Given the description of an element on the screen output the (x, y) to click on. 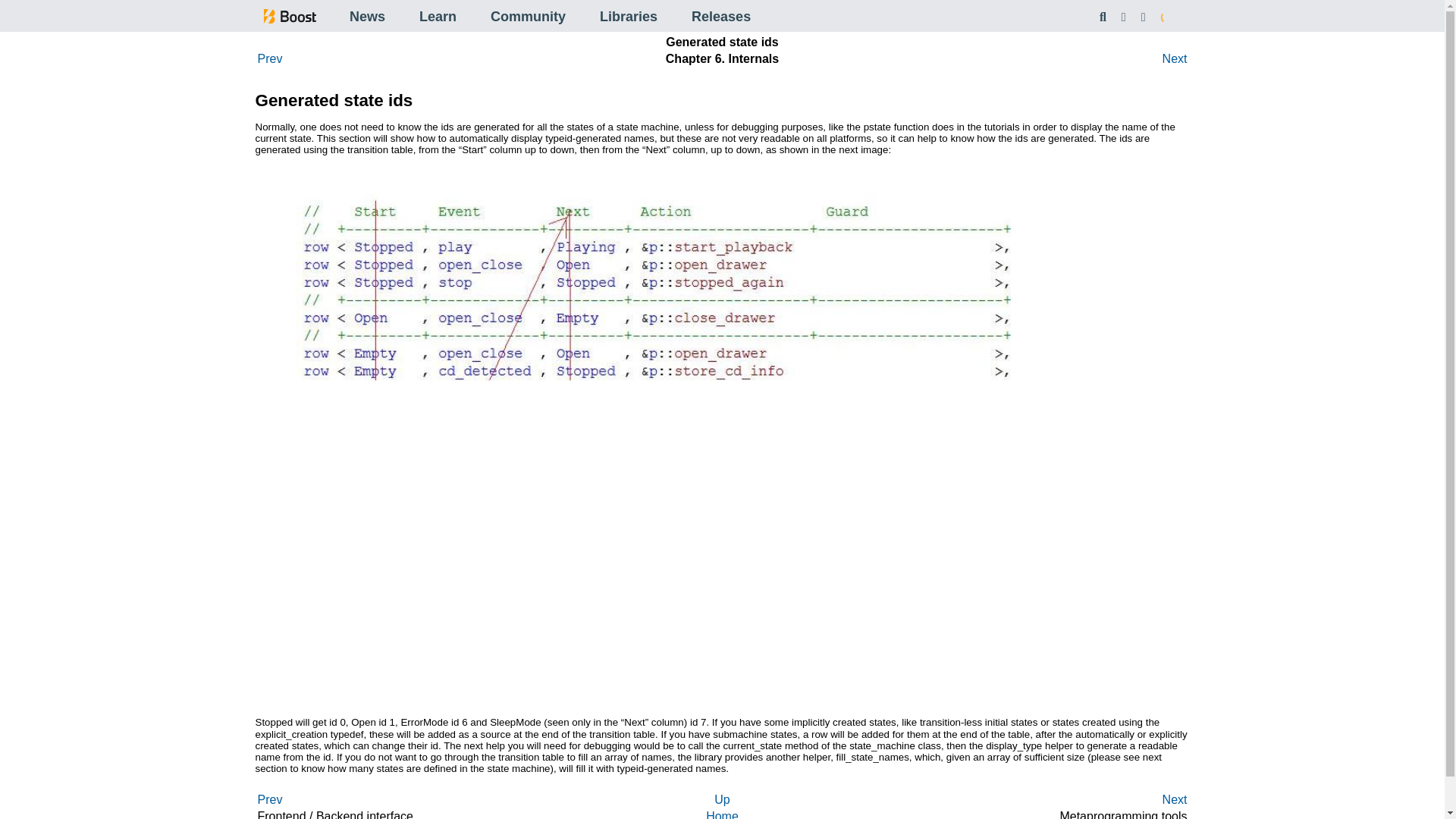
Up (721, 799)
Releases (721, 16)
Learn (438, 16)
Home (722, 814)
News (367, 16)
Prev (269, 58)
Next (1174, 58)
Community (528, 16)
Prev (269, 799)
Libraries (628, 16)
Next (1174, 799)
